Given the description of an element on the screen output the (x, y) to click on. 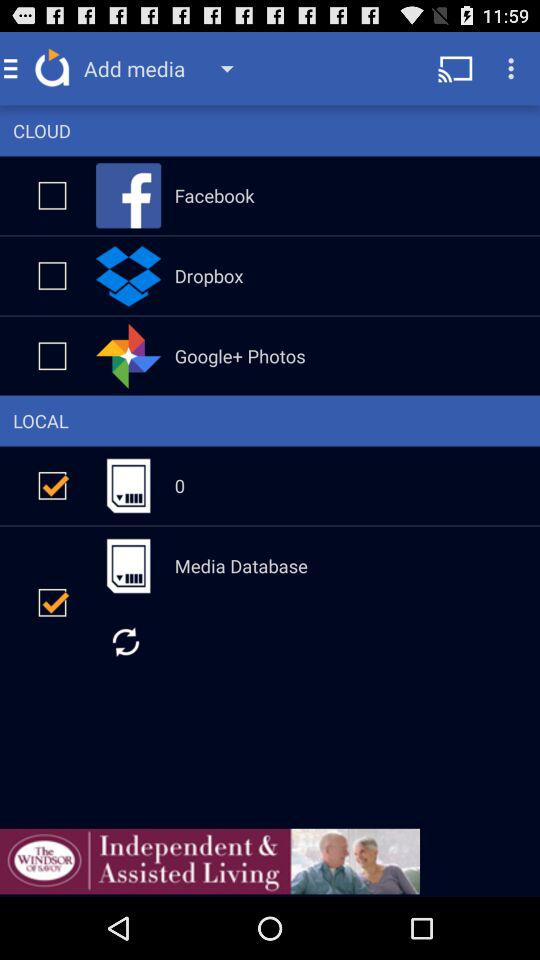
check mark box (52, 195)
